Given the description of an element on the screen output the (x, y) to click on. 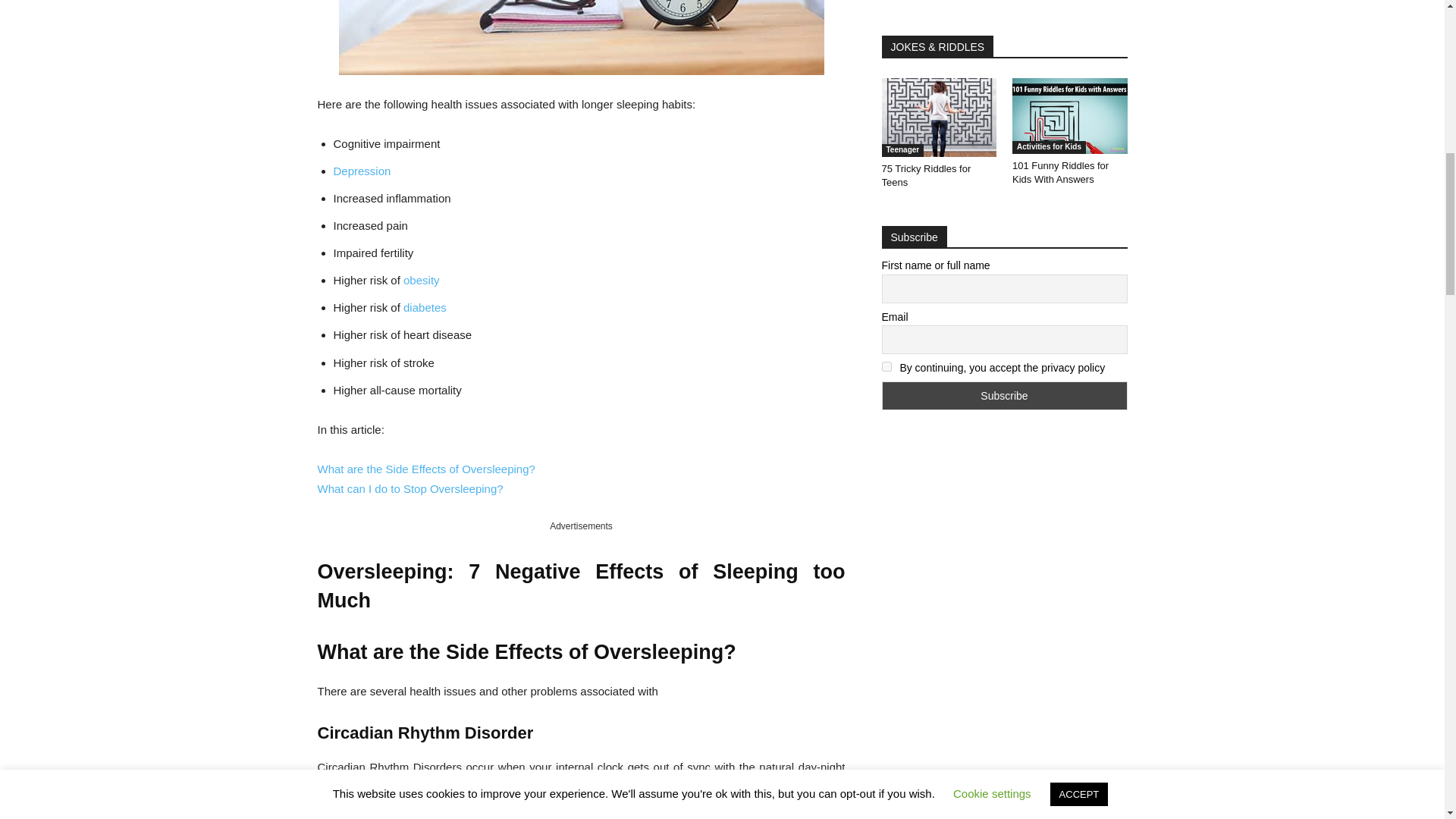
Subscribe (1003, 395)
on (885, 366)
